Given the description of an element on the screen output the (x, y) to click on. 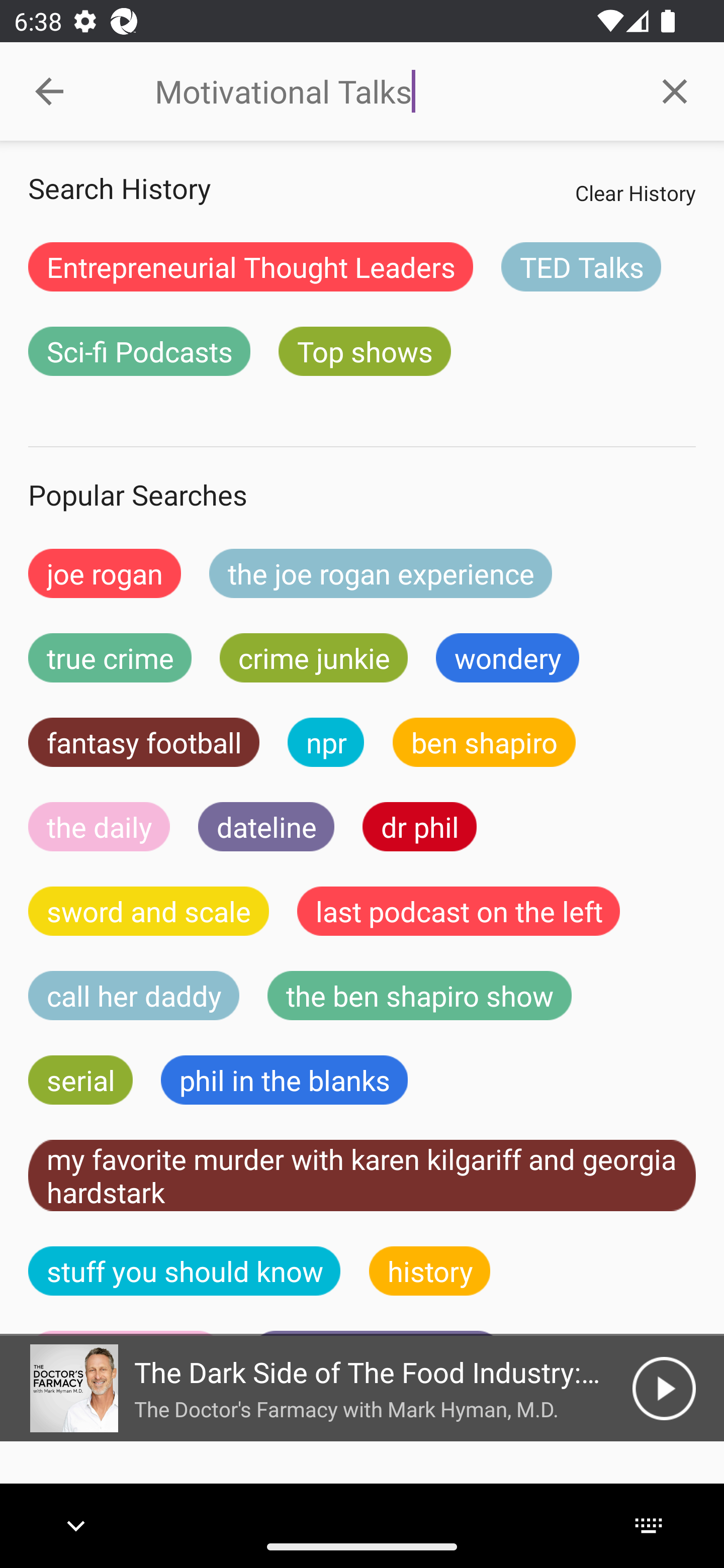
Collapse (49, 91)
Clear query (674, 90)
Motivational Talks (389, 91)
Clear History (634, 192)
Entrepreneurial Thought Leaders (250, 266)
TED Talks (581, 266)
Sci-fi Podcasts (139, 351)
Top shows (364, 351)
joe rogan (104, 572)
the joe rogan experience (380, 572)
true crime (109, 657)
crime junkie (313, 657)
wondery (507, 657)
fantasy football (143, 742)
npr (325, 742)
ben shapiro (483, 742)
the daily (99, 826)
dateline (266, 826)
dr phil (419, 826)
sword and scale (148, 910)
last podcast on the left (458, 910)
call her daddy (133, 995)
the ben shapiro show (419, 995)
serial (80, 1079)
phil in the blanks (283, 1079)
stuff you should know (184, 1270)
history (429, 1270)
Play (663, 1388)
